Given the description of an element on the screen output the (x, y) to click on. 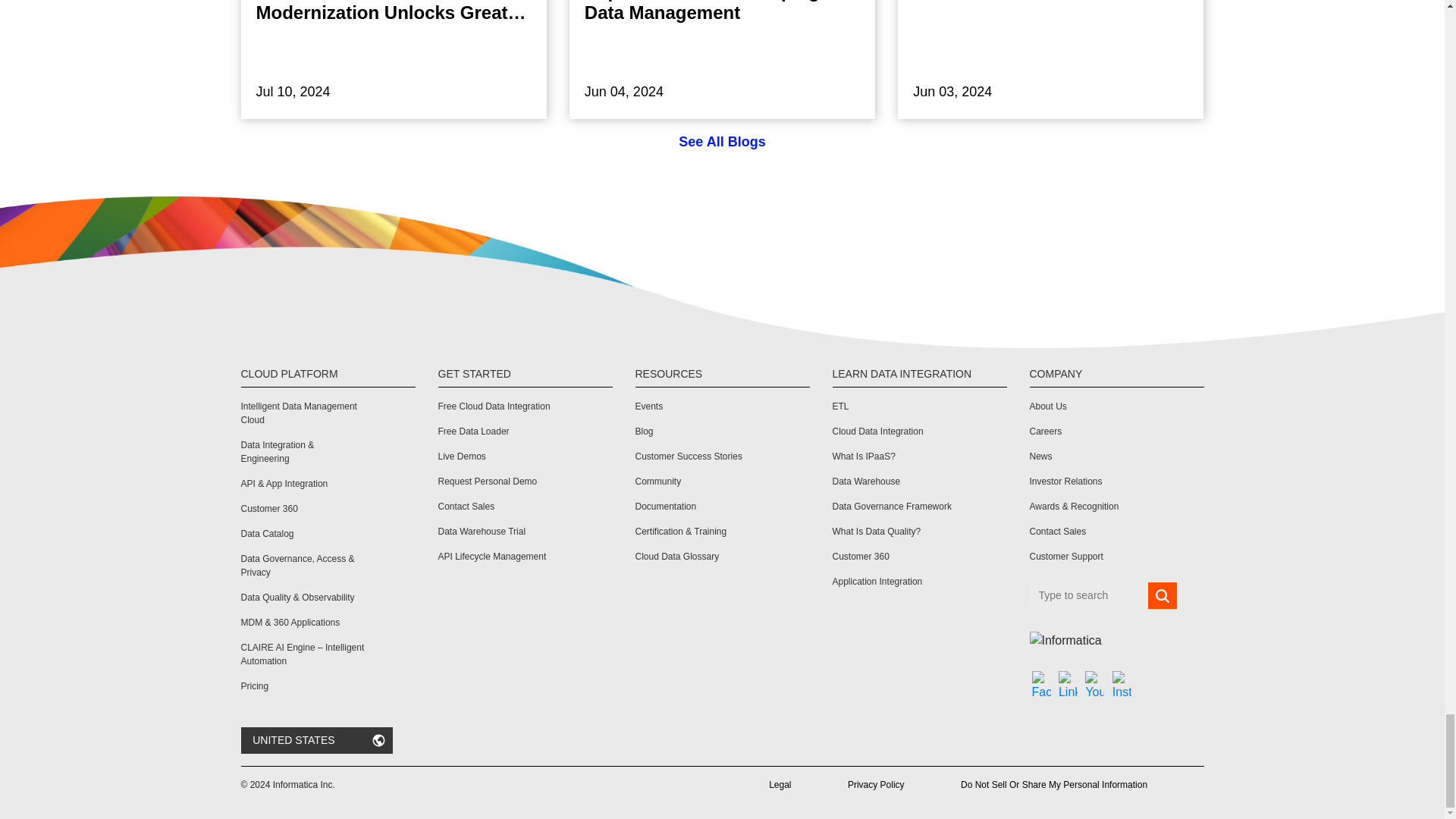
Insert a query. Press enter to send (1088, 595)
Search (1162, 595)
